Given the description of an element on the screen output the (x, y) to click on. 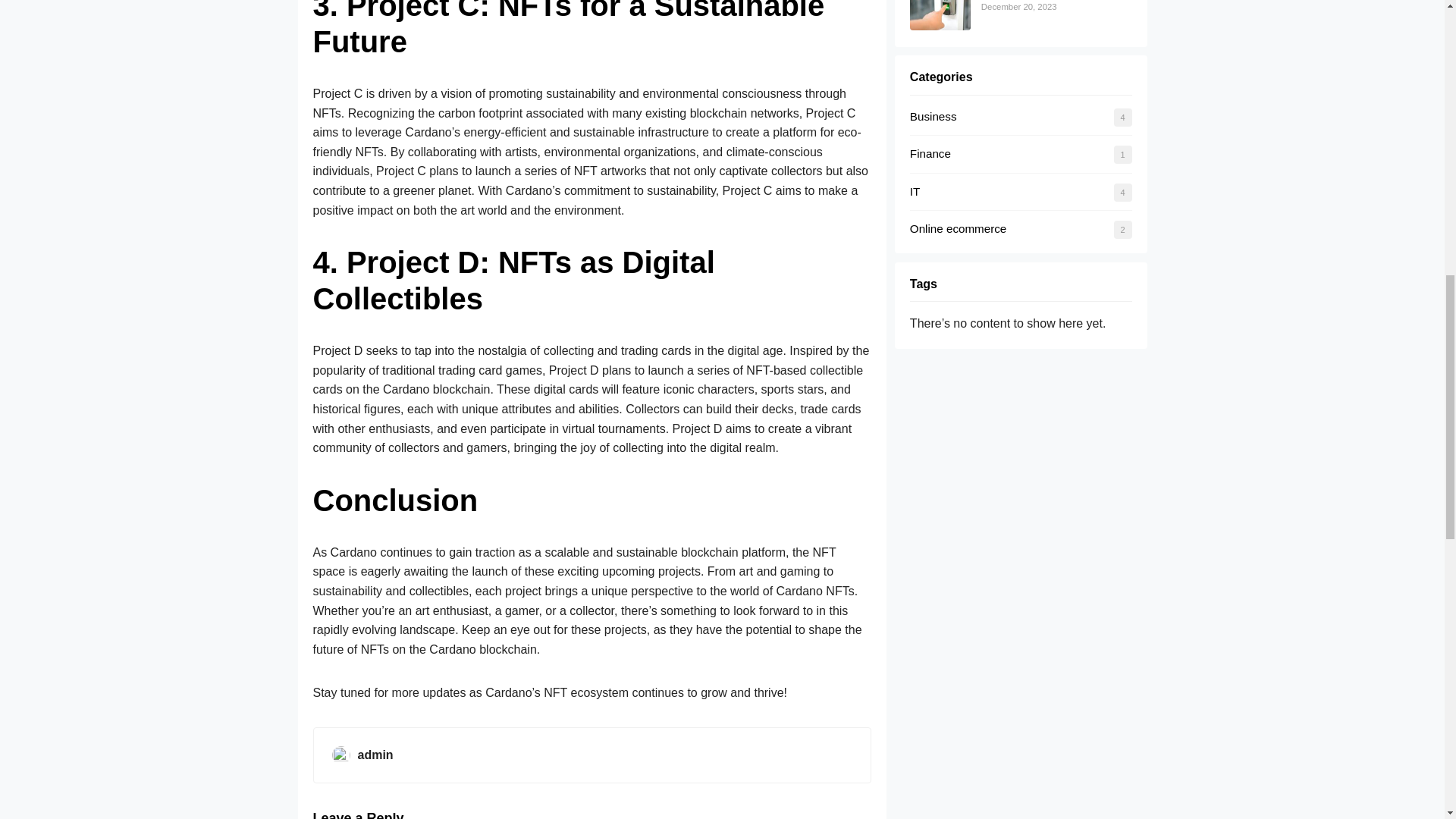
Finance (930, 153)
Online ecommerce (958, 228)
Business (933, 115)
